Given the description of an element on the screen output the (x, y) to click on. 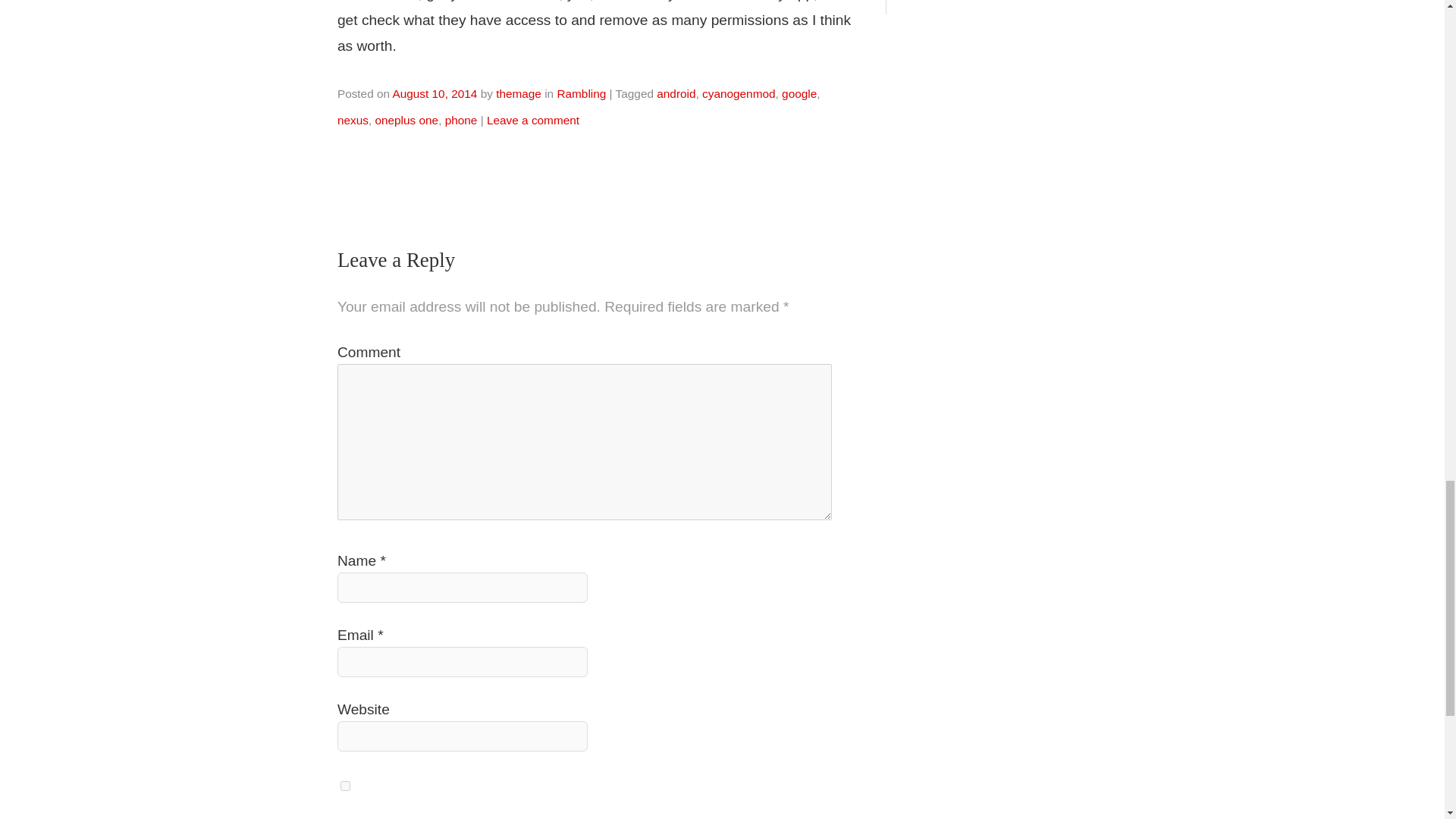
google (798, 92)
yes (345, 786)
oneplus one (406, 119)
13:28 (434, 92)
nexus (352, 119)
themage (518, 92)
phone (461, 119)
android (675, 92)
Leave a comment (532, 119)
Rambling (580, 92)
August 10, 2014 (434, 92)
View all posts by themage (518, 92)
cyanogenmod (738, 92)
